Given the description of an element on the screen output the (x, y) to click on. 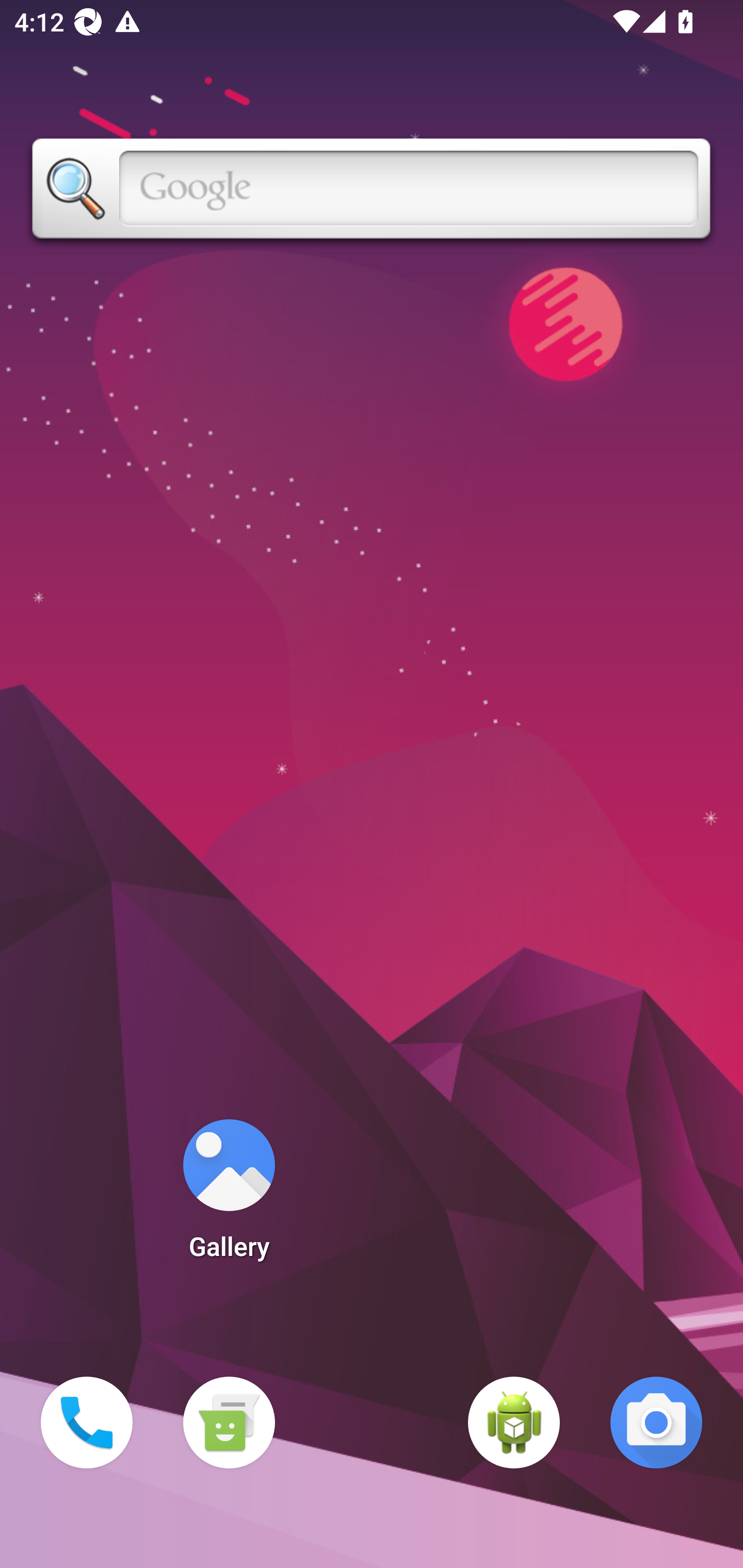
Gallery (228, 1195)
Phone (86, 1422)
Messaging (228, 1422)
WebView Browser Tester (513, 1422)
Camera (656, 1422)
